Given the description of an element on the screen output the (x, y) to click on. 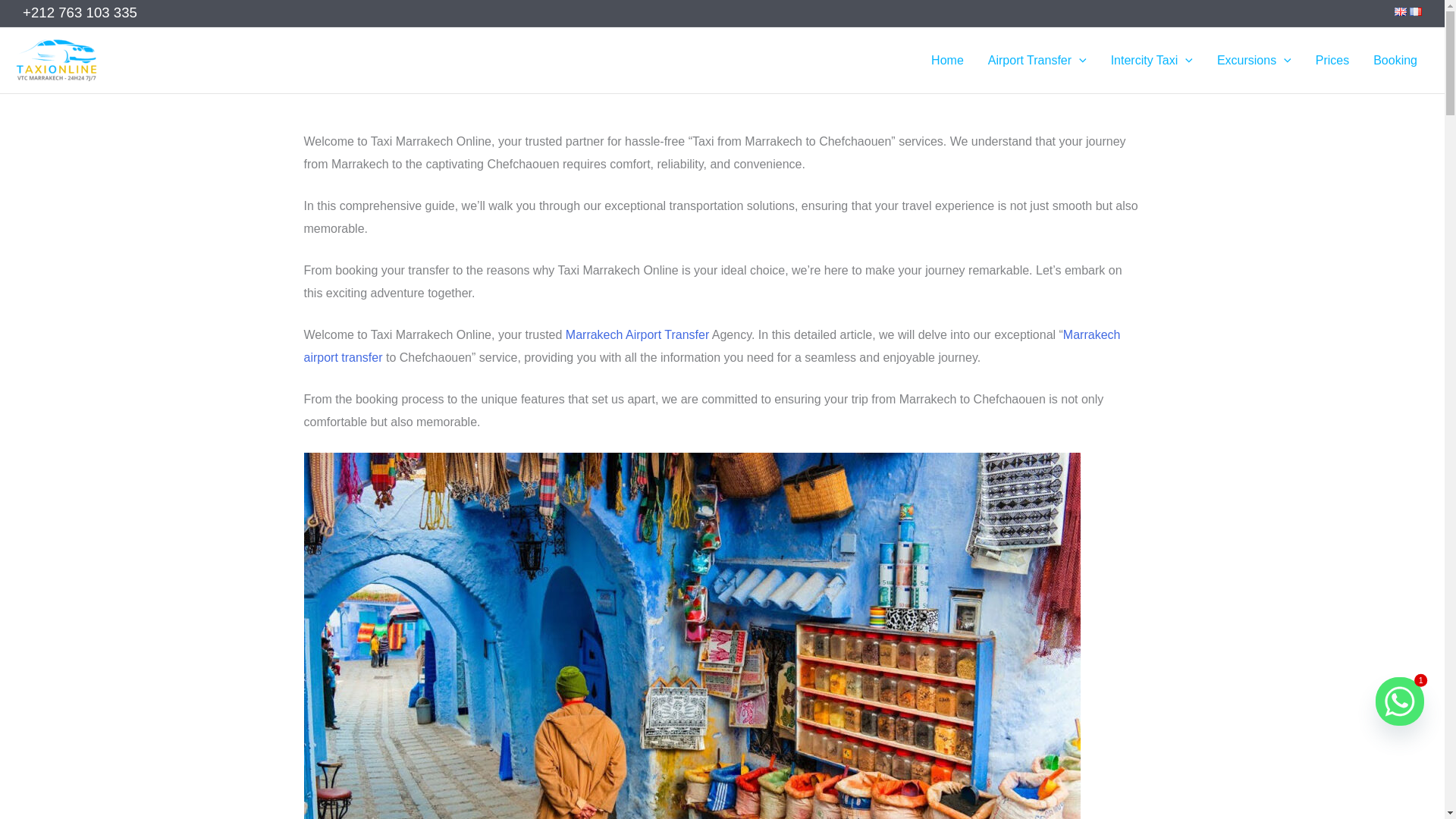
Airport Transfer (1037, 60)
Excursions (1254, 60)
Book Marrakech Airport Transfer (637, 334)
Home (946, 60)
Intercity Taxi (1152, 60)
Booking (1395, 60)
Prices (1332, 60)
Book Marrakech Airport Transfer (710, 345)
